Given the description of an element on the screen output the (x, y) to click on. 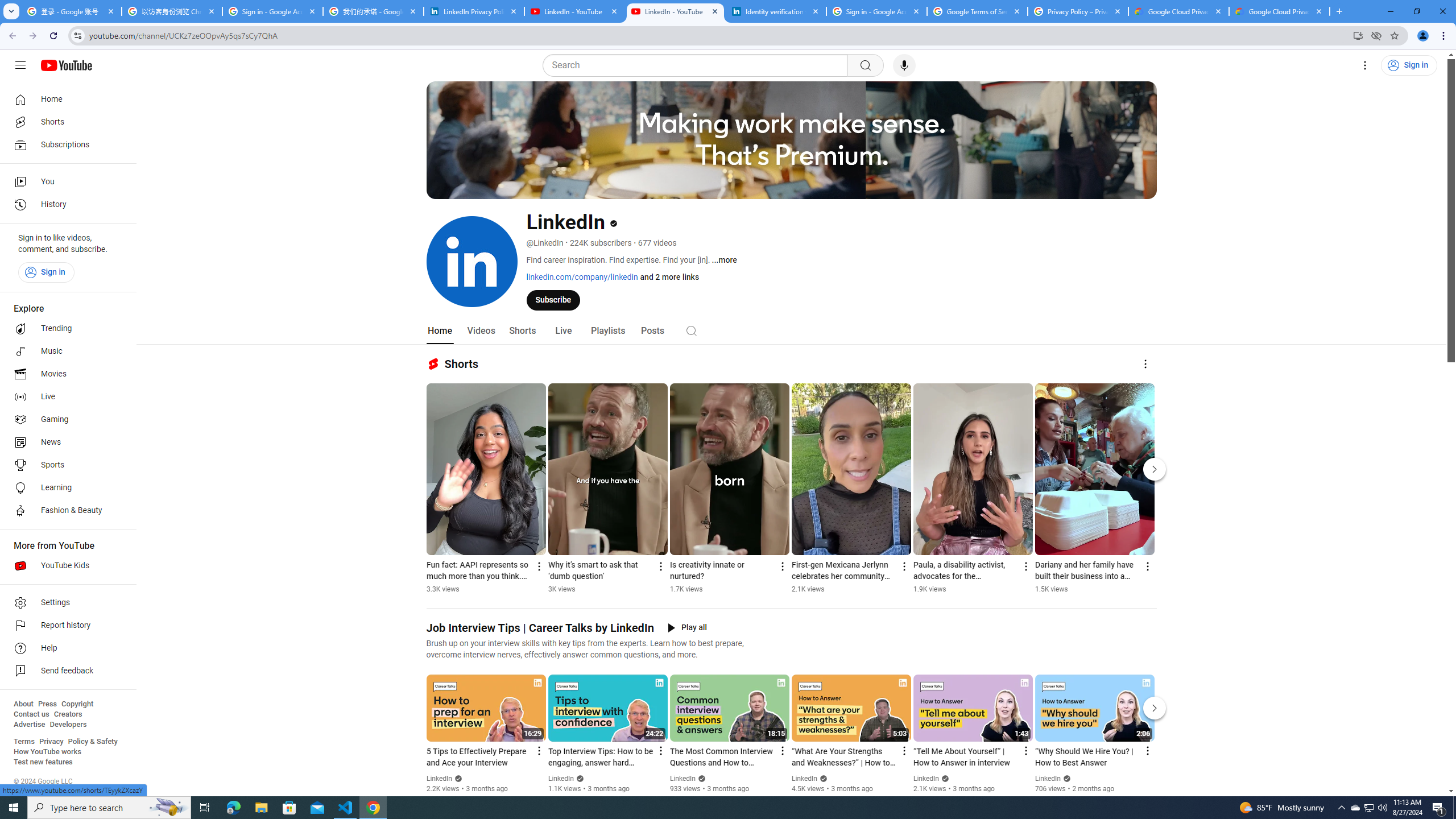
News (64, 441)
Report history (64, 625)
